Given the description of an element on the screen output the (x, y) to click on. 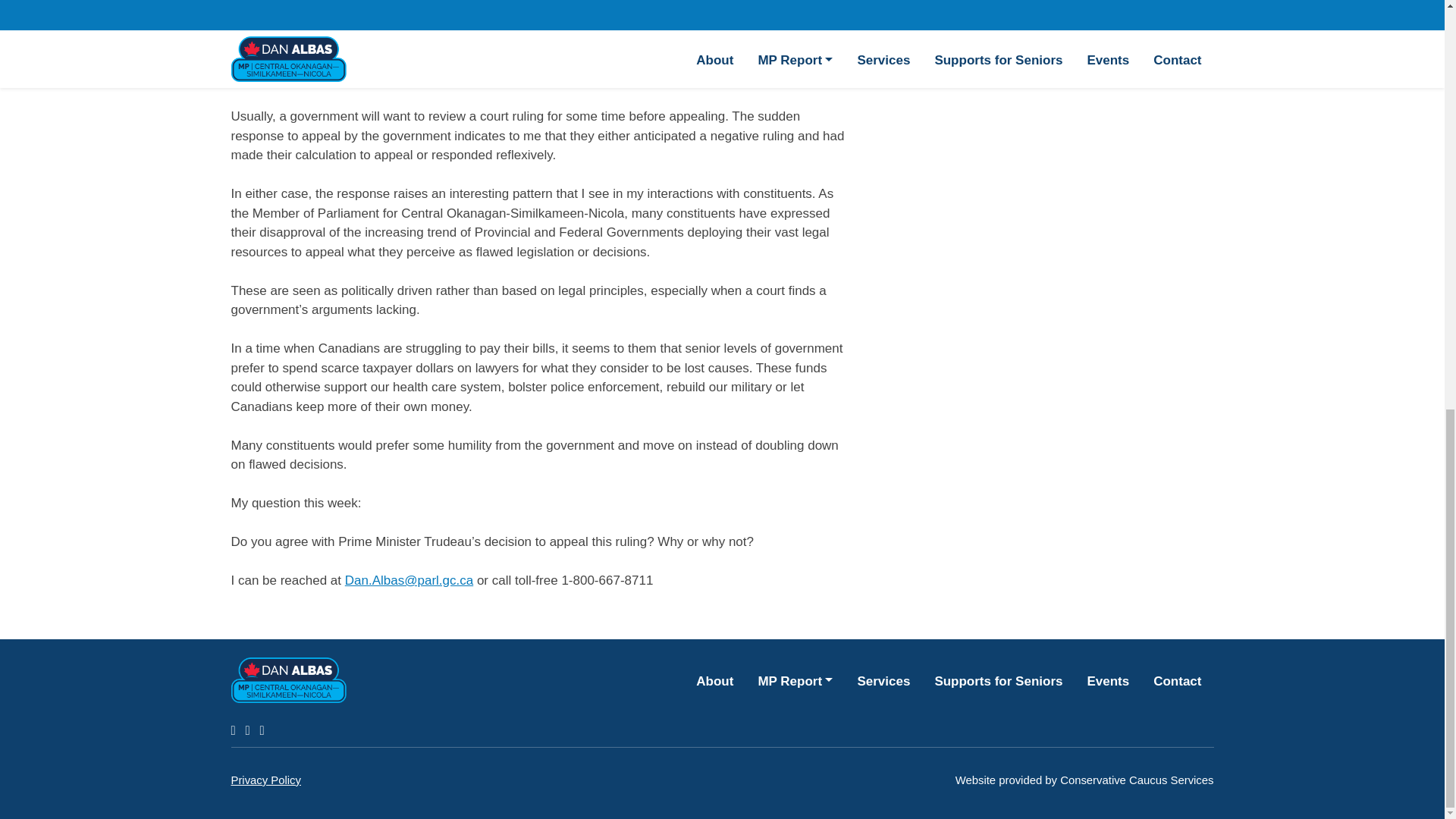
About (714, 679)
Supports for Seniors (997, 679)
Contact (1176, 679)
Events (1107, 679)
Services (882, 679)
Privacy Policy (264, 779)
MP Report (794, 679)
